Given the description of an element on the screen output the (x, y) to click on. 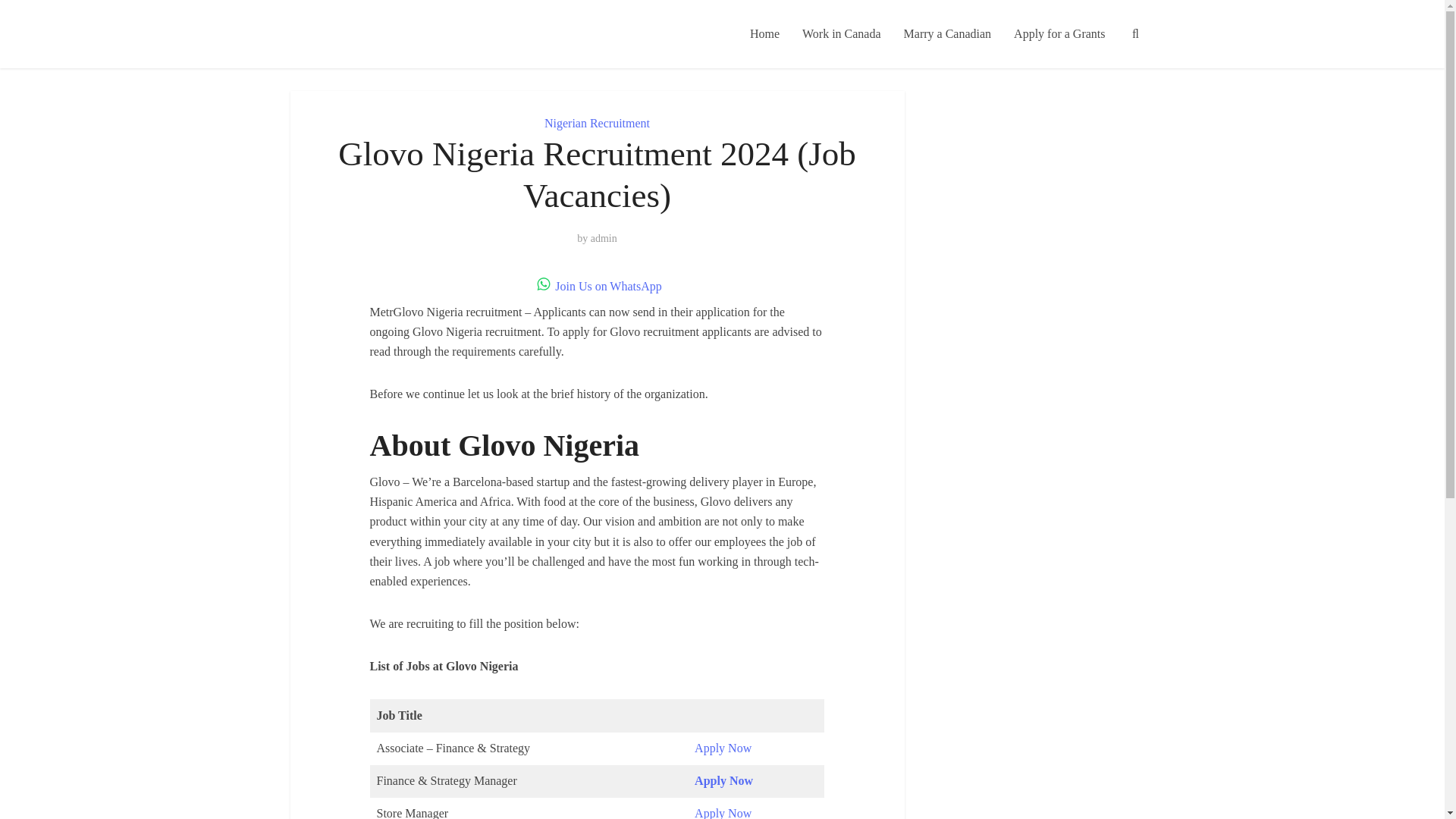
Join Us on WhatsApp (597, 286)
Apply Now (723, 780)
Join Us on WhatsApp (597, 286)
Apply for a Grants (1059, 33)
admin (604, 238)
Work in Canada (841, 33)
Nigerian Recruitment (596, 123)
Apply Now (722, 748)
Marry a Canadian (947, 33)
Apply Now (722, 812)
